Given the description of an element on the screen output the (x, y) to click on. 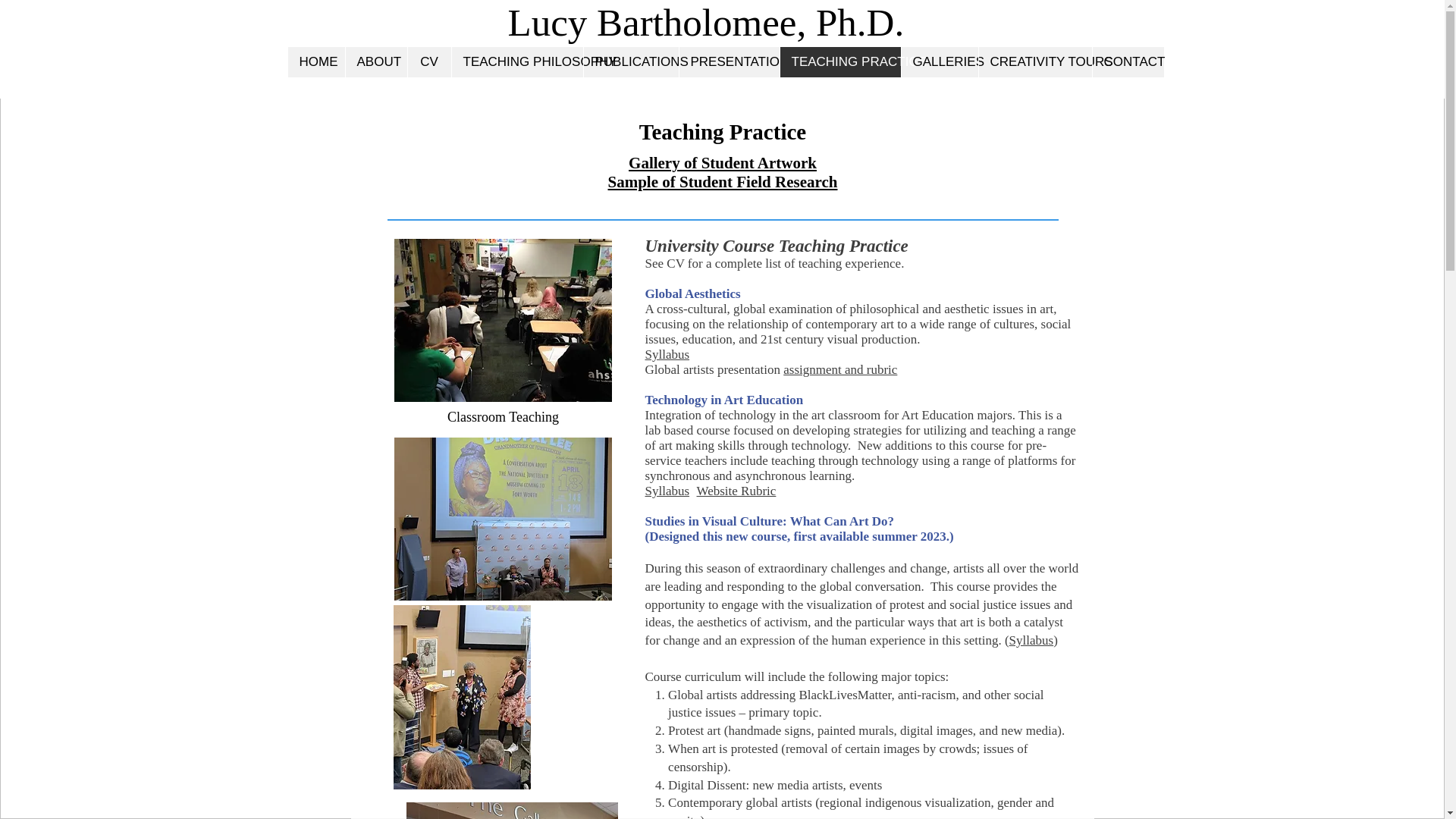
TEACHING PRACTICE (839, 61)
CV (427, 61)
PUBLICATIONS (630, 61)
CREATIVITY TOURS (1035, 61)
TEACHING PHILOSOPHY (515, 61)
Gallery of Student Artwork (722, 162)
Syllabus (1031, 640)
Syllabus (666, 490)
Website Rubric (736, 490)
Sample of Student Field Research (723, 181)
PRESENTATIONS (728, 61)
GALLERIES (939, 61)
ABOUT (374, 61)
Opal Lee 1.jpg (511, 810)
Syllabus (666, 354)
